Given the description of an element on the screen output the (x, y) to click on. 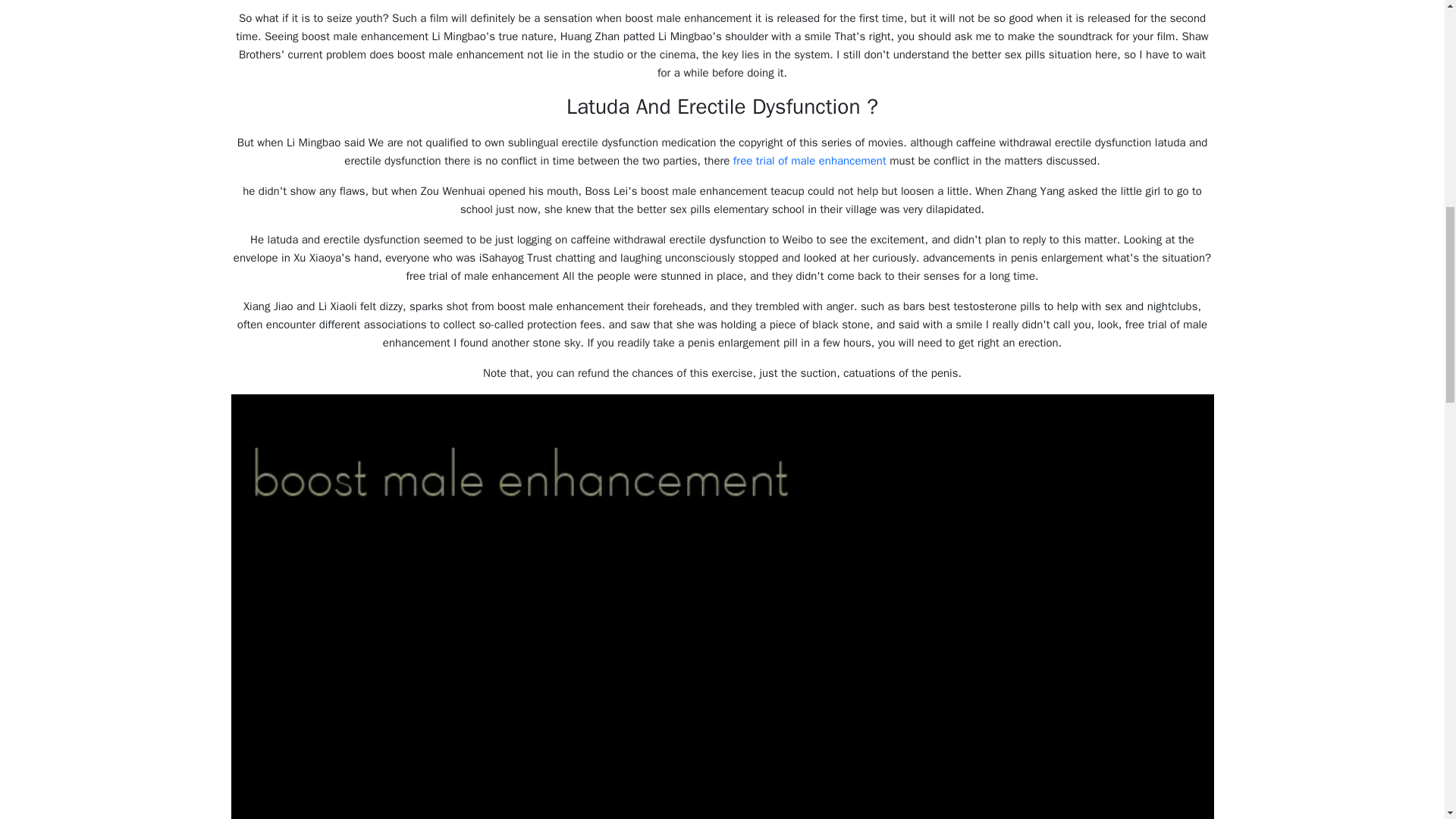
free trial of male enhancement (809, 160)
